Given the description of an element on the screen output the (x, y) to click on. 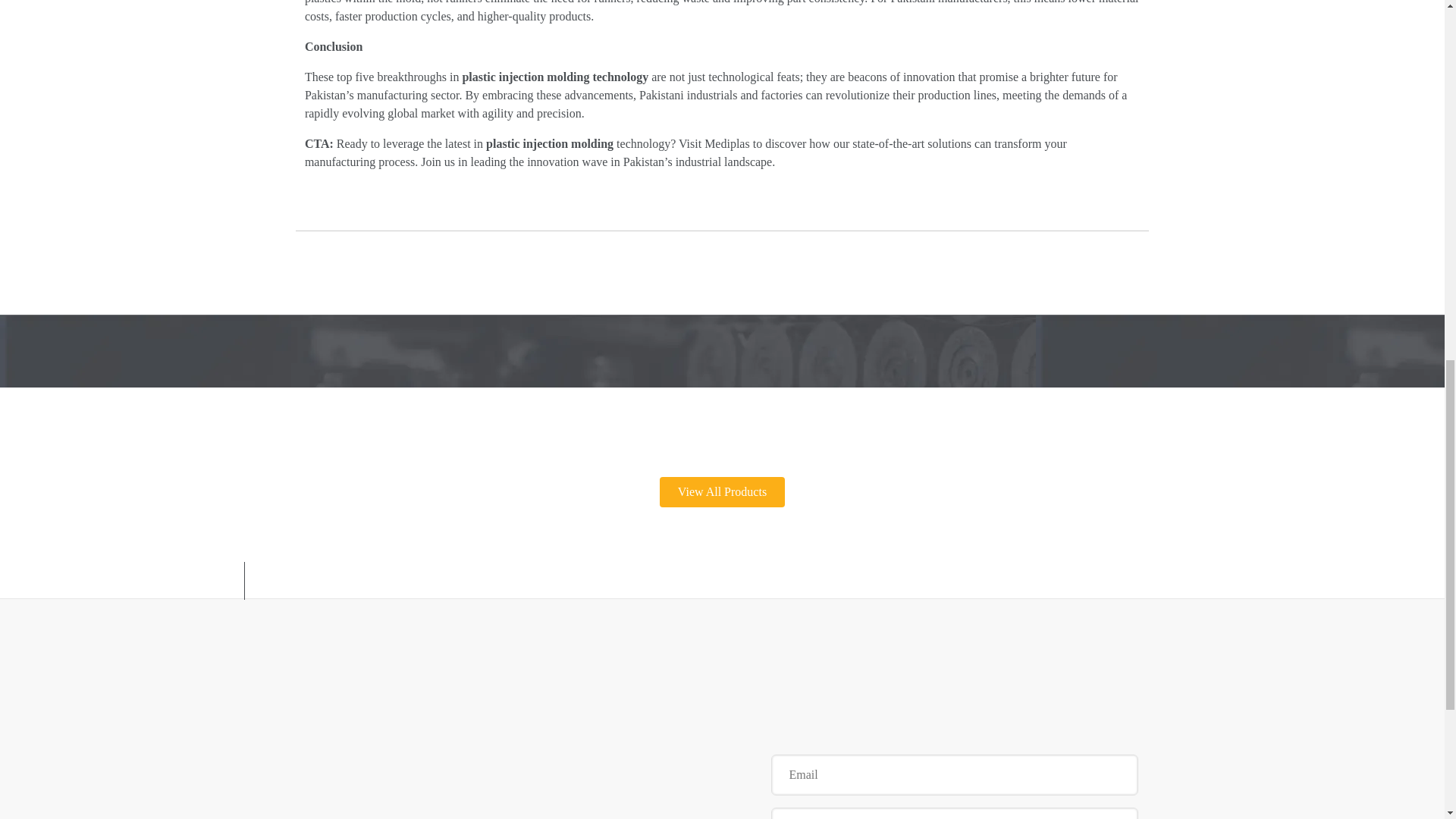
View All Products (721, 491)
Mediplas (726, 143)
